Given the description of an element on the screen output the (x, y) to click on. 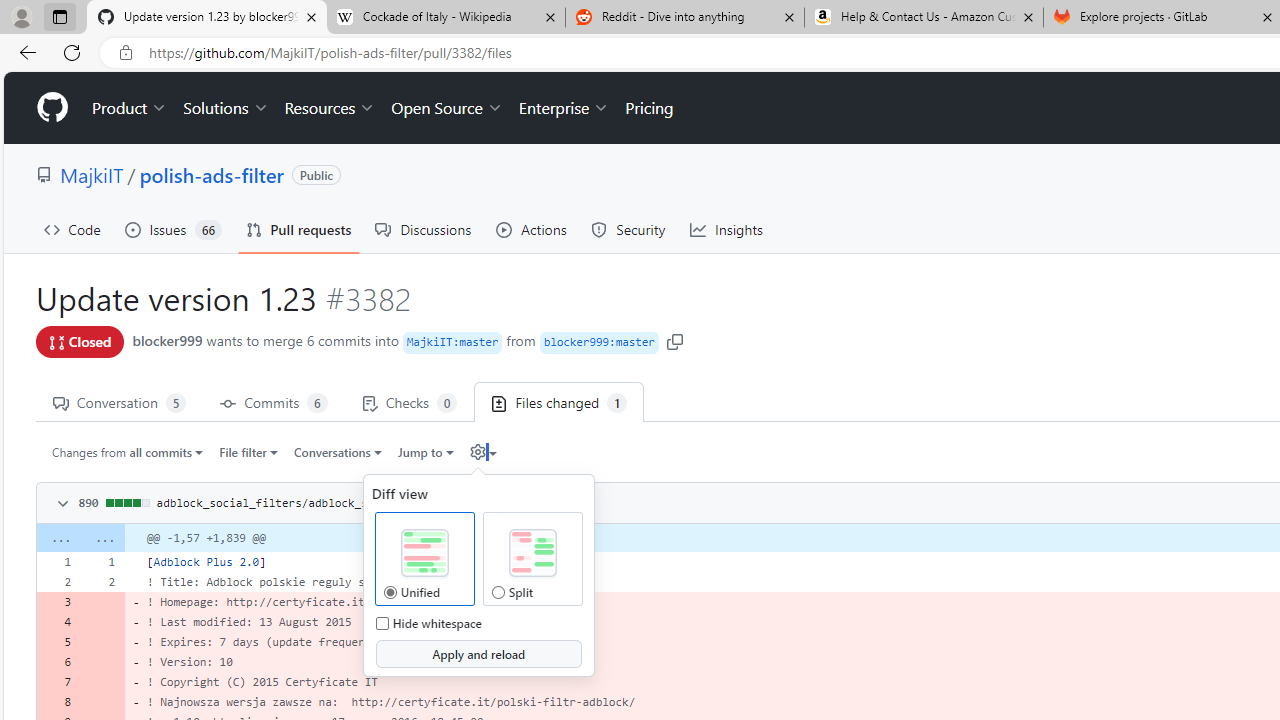
Cockade of Italy - Wikipedia (445, 17)
Security (628, 229)
Code (71, 229)
 Conversation 5 (119, 401)
Actions (531, 229)
Open Source (446, 107)
... (102, 538)
1 (102, 561)
Unified Diff View Unified (389, 591)
Product (130, 107)
Class: blob-num blob-num-deletion empty-cell (102, 701)
Issues 66 (173, 229)
